Given the description of an element on the screen output the (x, y) to click on. 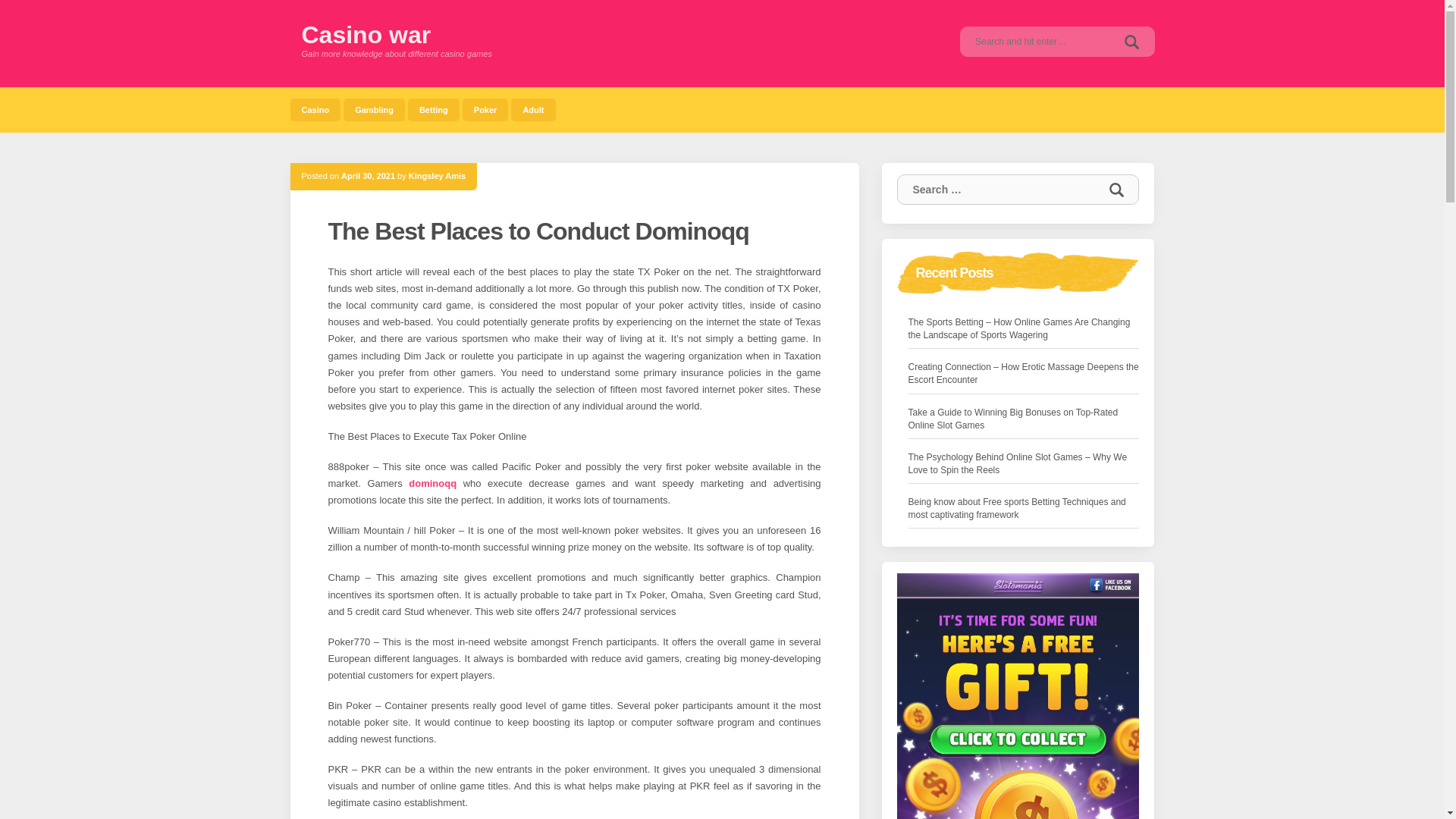
Search (1131, 41)
Adult (532, 109)
Poker (485, 109)
Kingsley Amis (437, 175)
Gambling (373, 109)
Search (1115, 189)
Casino war (365, 34)
Casino (314, 109)
dominoqq (433, 482)
April 30, 2021 (367, 175)
